Given the description of an element on the screen output the (x, y) to click on. 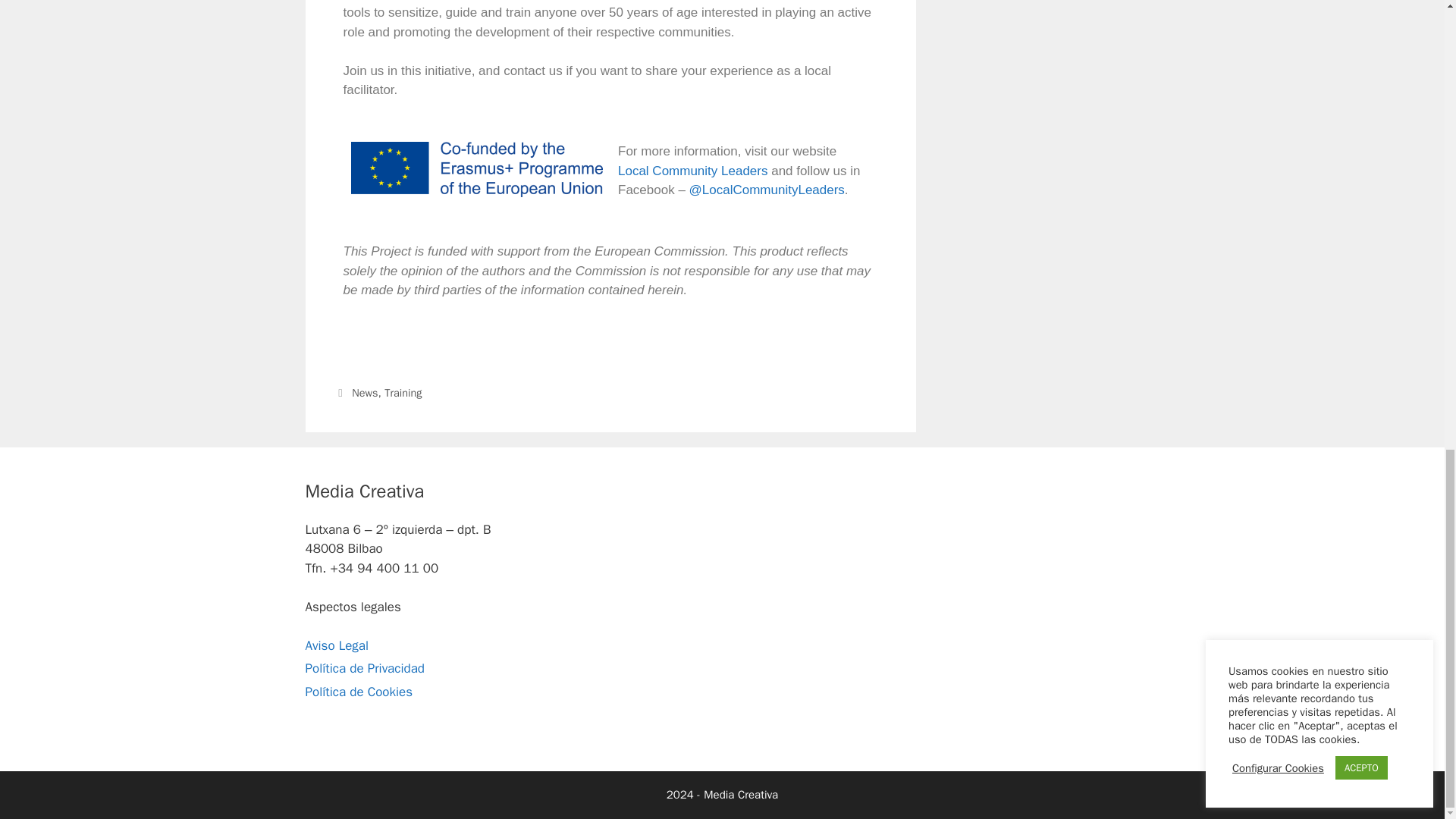
Scroll back to top (1406, 535)
News (364, 392)
Training (403, 392)
Local Community Leaders (692, 170)
